Given the description of an element on the screen output the (x, y) to click on. 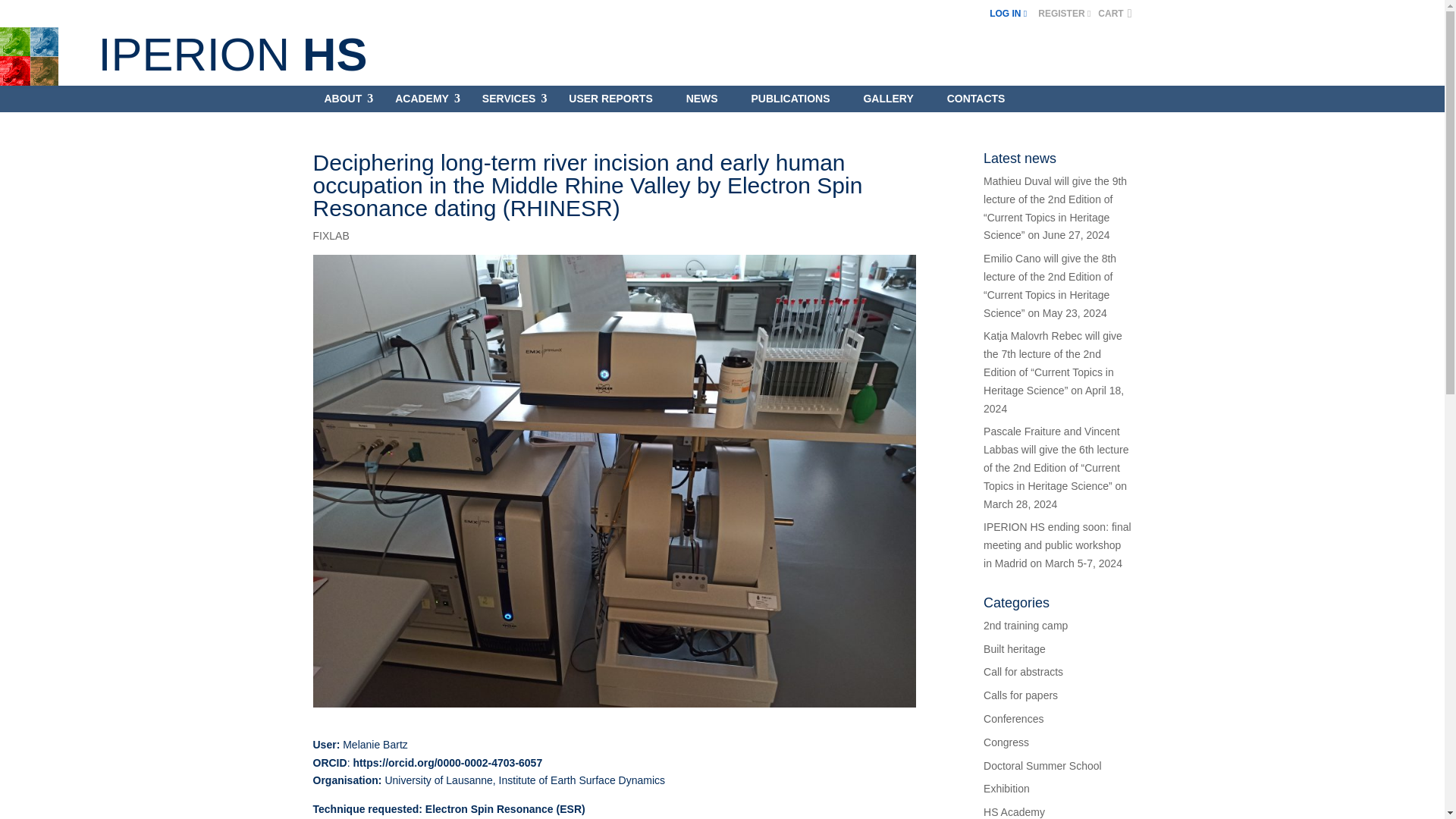
PUBLICATIONS (790, 102)
GALLERY (887, 102)
SERVICES (508, 102)
ACADEMY (422, 102)
ABOUT (342, 102)
NEWS (702, 102)
IPERION HS (231, 53)
CONTACTS (976, 102)
CART (1114, 13)
USER REPORTS (610, 102)
REGISTER (1058, 13)
Cart (1114, 13)
LOG IN (1008, 13)
